Given the description of an element on the screen output the (x, y) to click on. 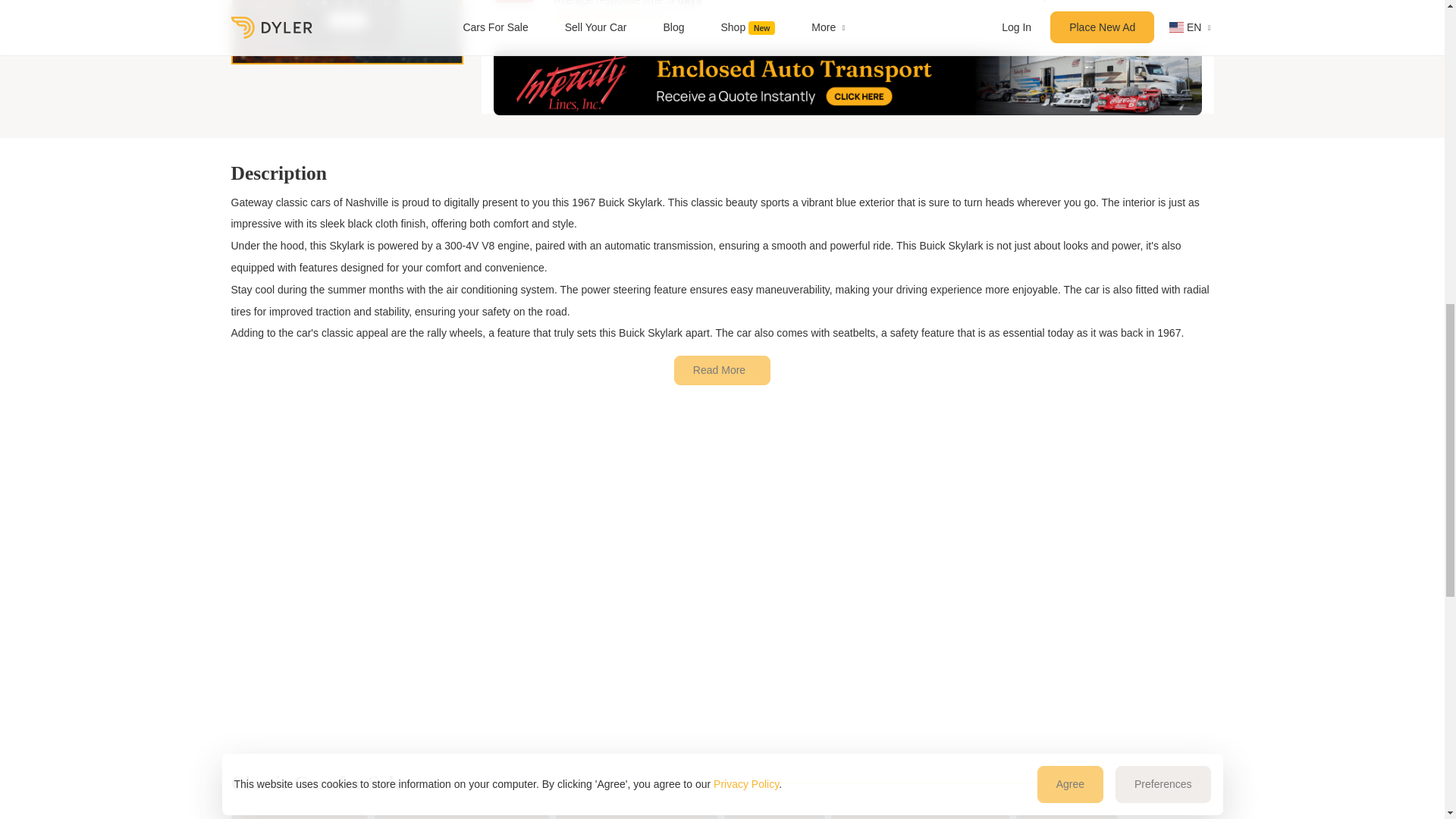
Classic and Modern Buick for Sale in United States (920, 816)
Classic and Modern Buick for Sale (774, 816)
Classic Cars for Sale (299, 816)
Classic and Modern Cars for Sale in Tennessee (635, 816)
Buick Skylark for Sale (1067, 816)
Classic and Modern Cars for Sale in US (461, 816)
